Given the description of an element on the screen output the (x, y) to click on. 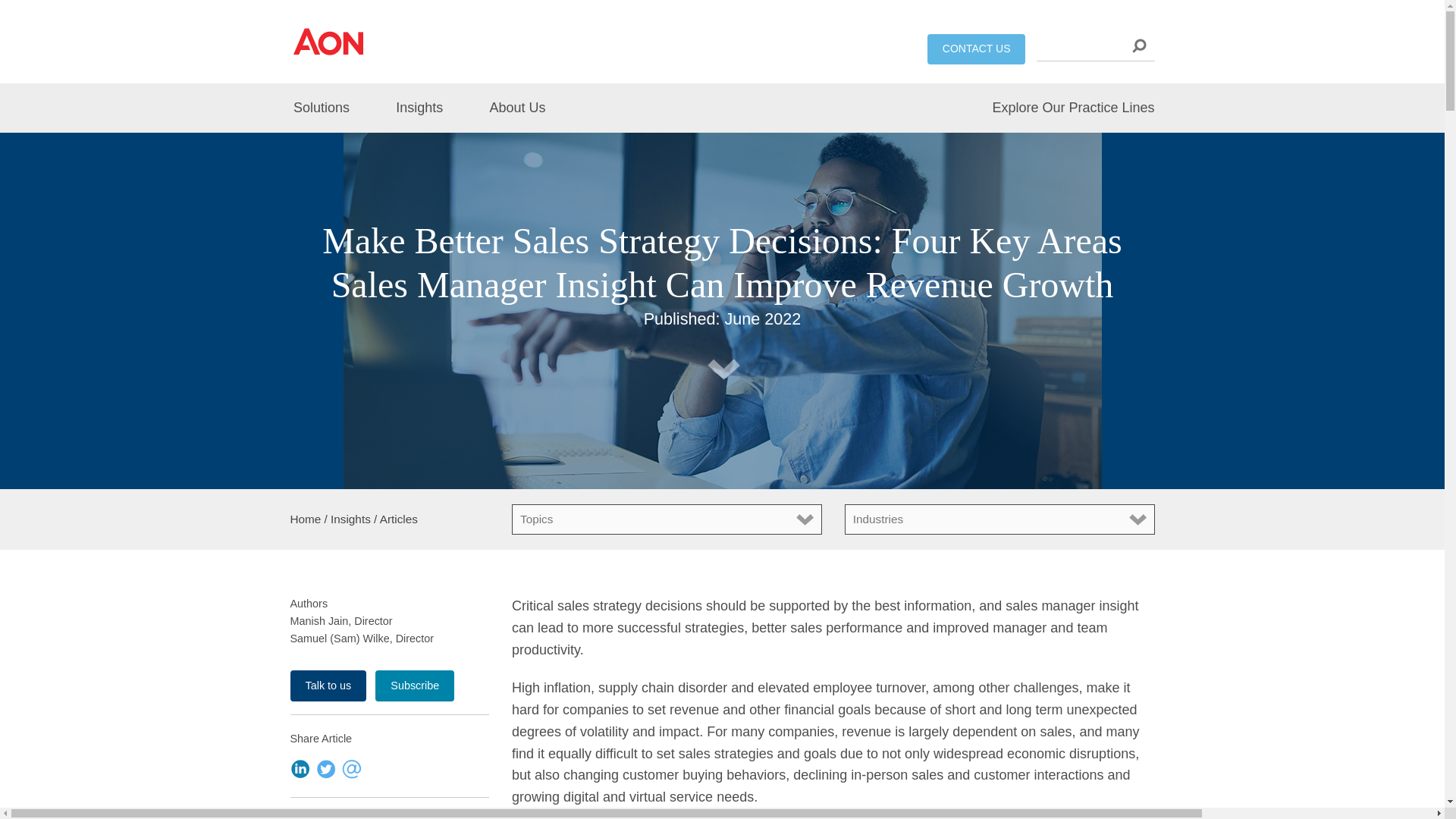
Twitter (326, 767)
Talk to us (327, 685)
Explore Our Practice Lines (1061, 107)
Insights (418, 107)
CONTACT US (976, 49)
Articles (398, 518)
Email (352, 767)
Insights (350, 518)
Home (304, 518)
Solutions (330, 107)
